Given the description of an element on the screen output the (x, y) to click on. 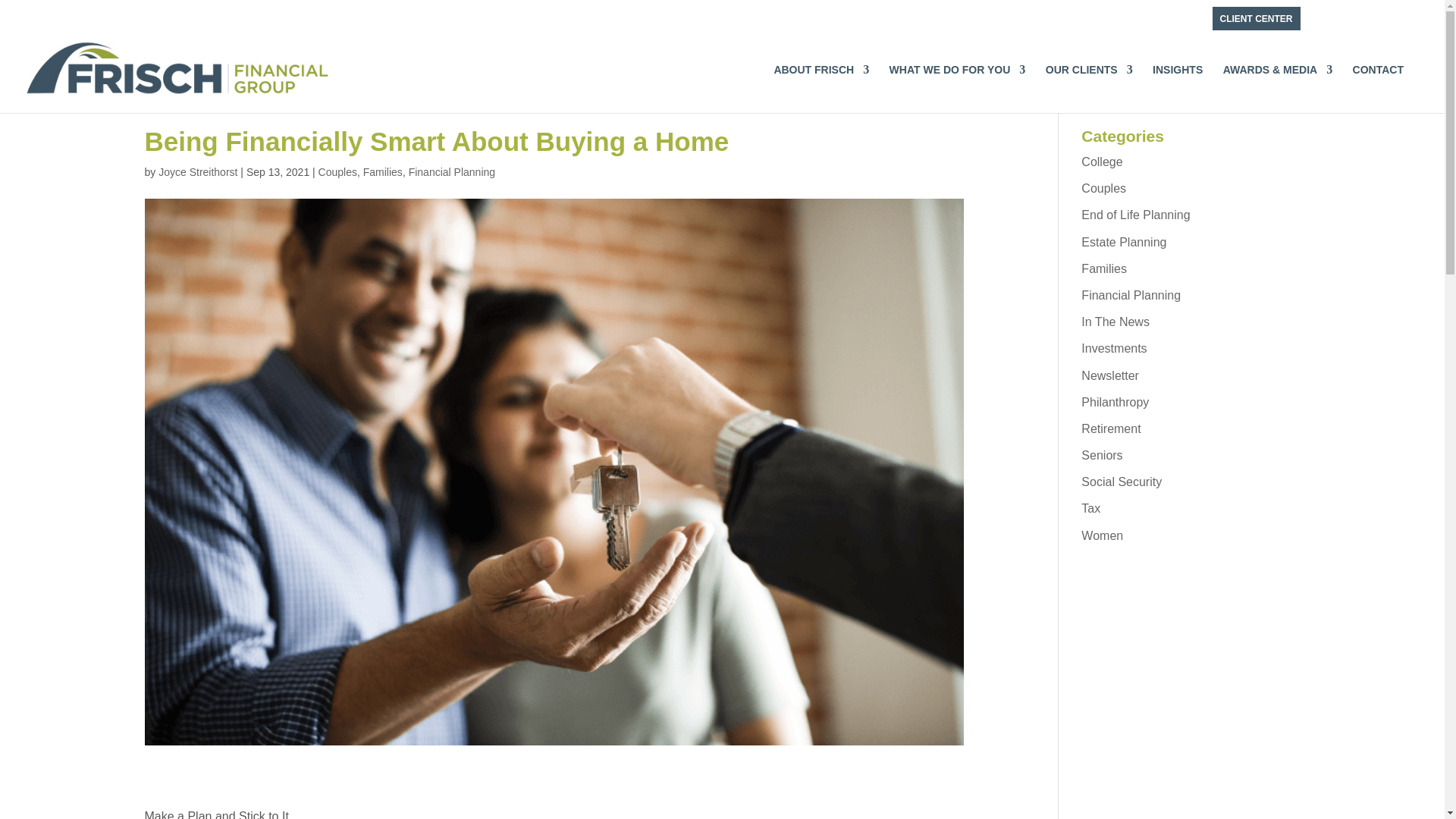
CONTACT (1377, 80)
Couples (337, 172)
Families (382, 172)
ABOUT FRISCH (821, 80)
College (1101, 161)
In The News (1115, 321)
CLIENT CENTER (1255, 18)
Families (1103, 268)
Posts by Joyce Streithorst (197, 172)
OUR CLIENTS (1088, 80)
